Given the description of an element on the screen output the (x, y) to click on. 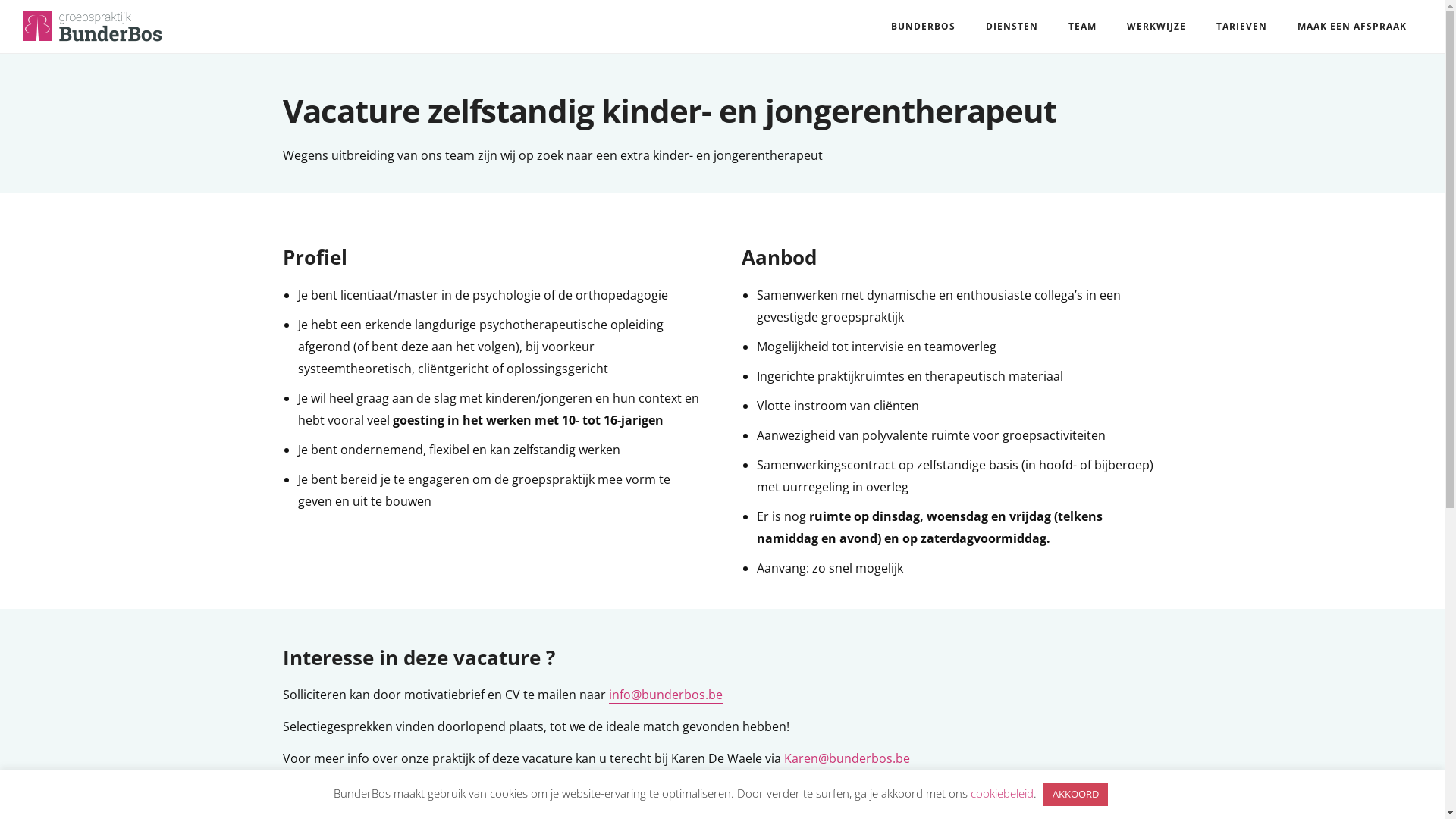
info@bunderbos.be Element type: text (664, 694)
DIENSTEN Element type: text (1011, 25)
WERKWIJZE Element type: text (1156, 25)
AKKOORD Element type: text (1075, 794)
TEAM Element type: text (1082, 25)
MAAK EEN AFSPRAAK Element type: text (1351, 25)
Karen@bunderbos.be Element type: text (847, 758)
cookiebeleid Element type: text (1001, 792)
TARIEVEN Element type: text (1241, 25)
BUNDERBOS Element type: text (922, 25)
